Given the description of an element on the screen output the (x, y) to click on. 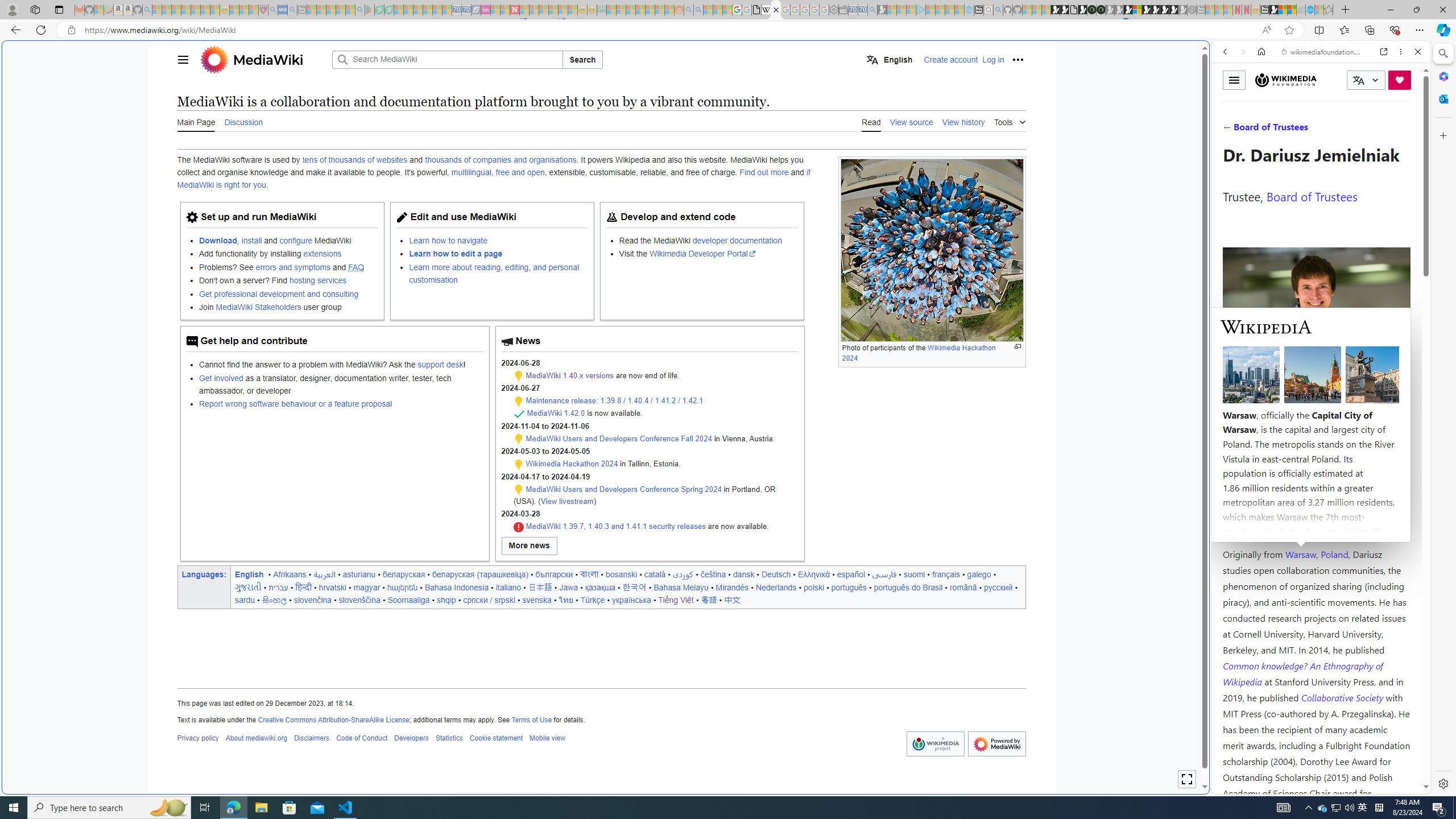
Get professional development and consulting (278, 293)
svenska (536, 599)
Warsaw (1300, 554)
MediaWiki (268, 59)
Home (1261, 51)
Donate now (1399, 80)
Global web icon (1232, 786)
Microsoft Start - Sleeping (949, 9)
Microsoft Start Gaming - Sleeping (881, 9)
Create account (950, 58)
